Given the description of an element on the screen output the (x, y) to click on. 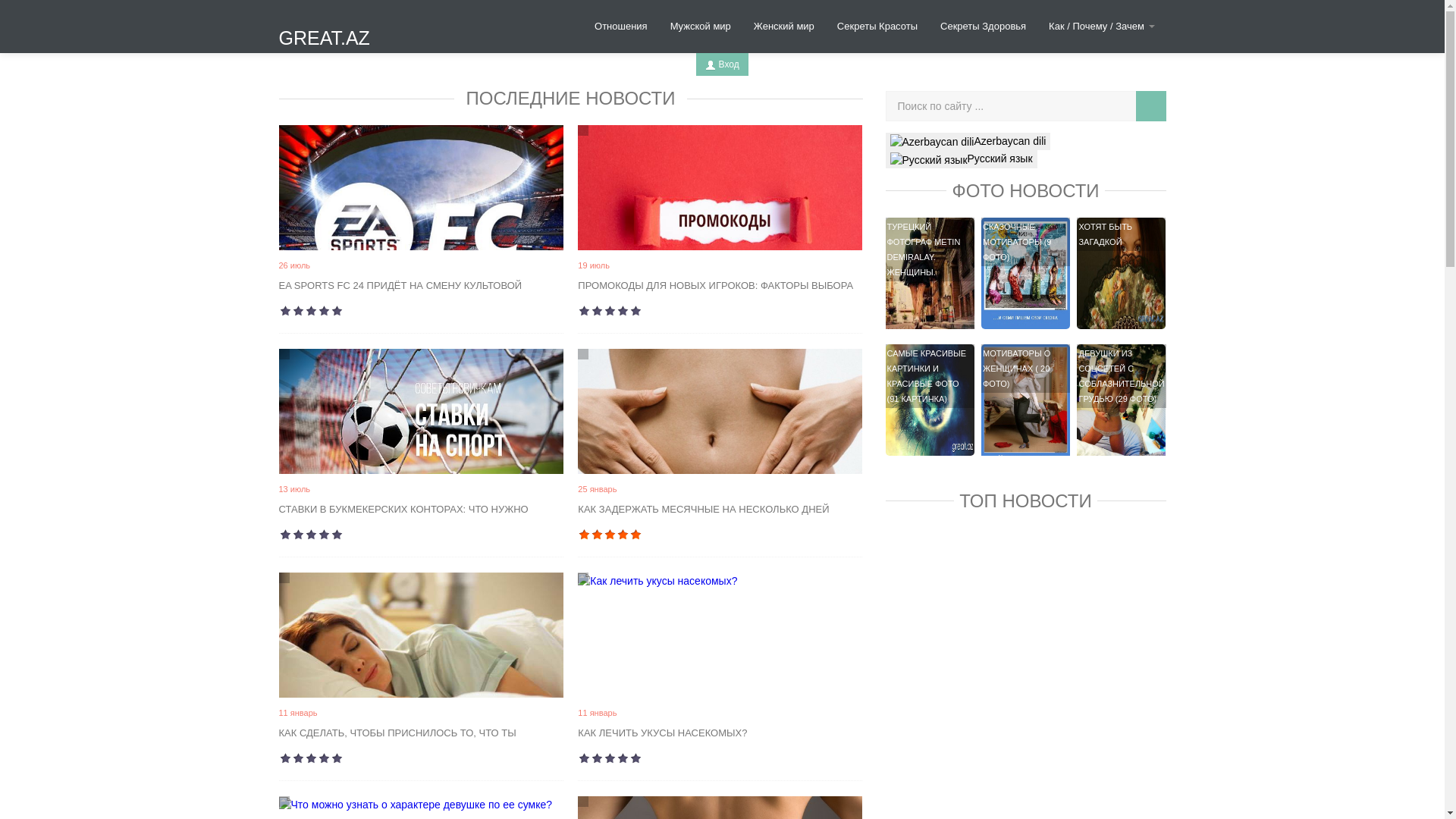
Azerbaycan dili Element type: text (968, 141)
GREAT.AZ Element type: text (335, 32)
